Given the description of an element on the screen output the (x, y) to click on. 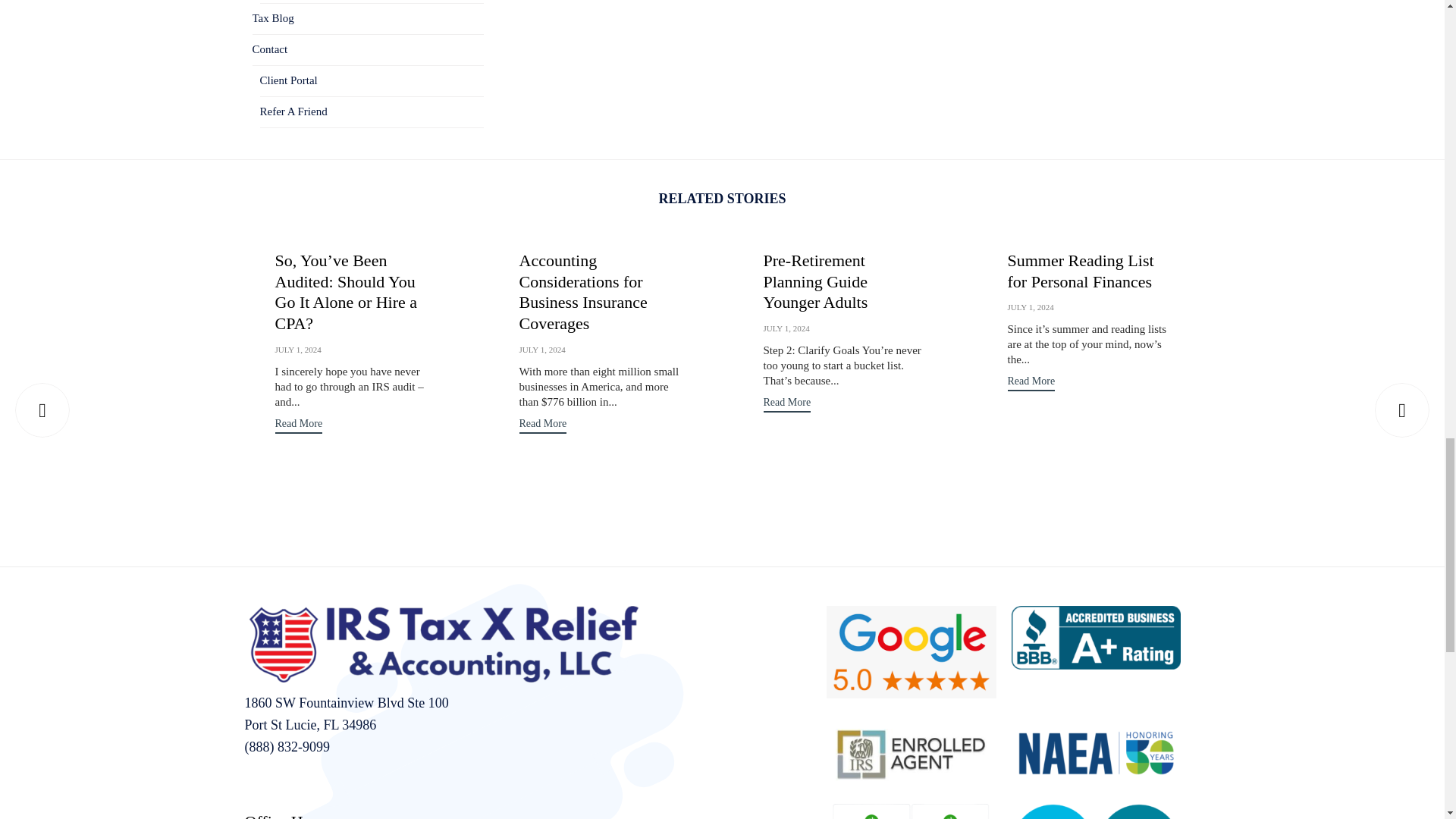
Summer Reading List for Personal Finances (1029, 307)
Summer Reading List for Personal Finances (1080, 270)
Accounting Considerations for Business Insurance Coverages (582, 292)
Pre-Retirement Planning Guide Younger Adults (814, 281)
Pre-Retirement Planning Guide Younger Adults (785, 327)
Accounting Considerations for Business Insurance Coverages (541, 348)
